Given the description of an element on the screen output the (x, y) to click on. 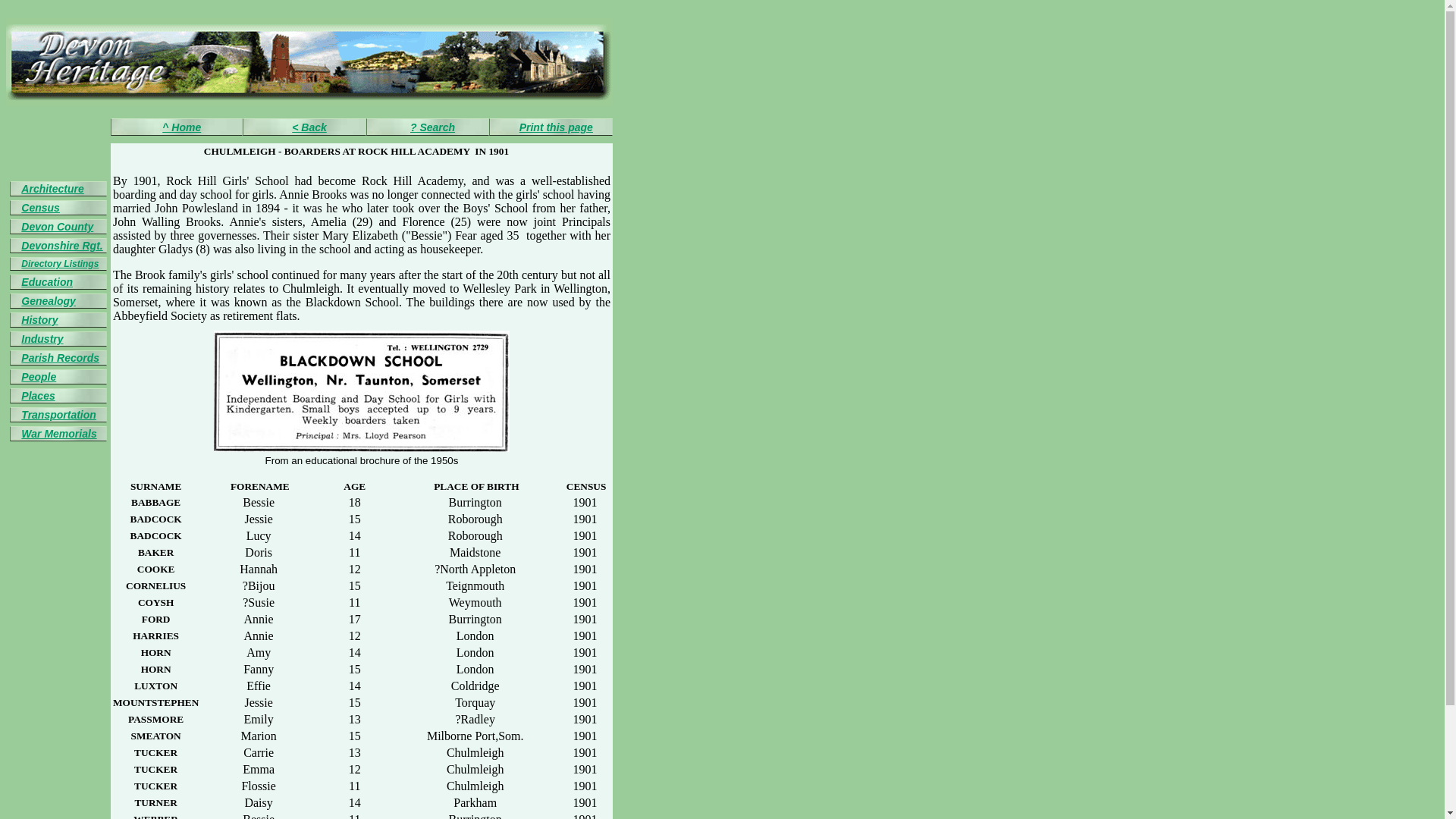
Transportation (58, 414)
Devonshire Rgt. (61, 245)
Education (46, 282)
Genealogy (48, 300)
Census (40, 207)
Places (38, 395)
Architecture (51, 188)
War Memorials (58, 433)
People (38, 377)
? Search (432, 127)
